Given the description of an element on the screen output the (x, y) to click on. 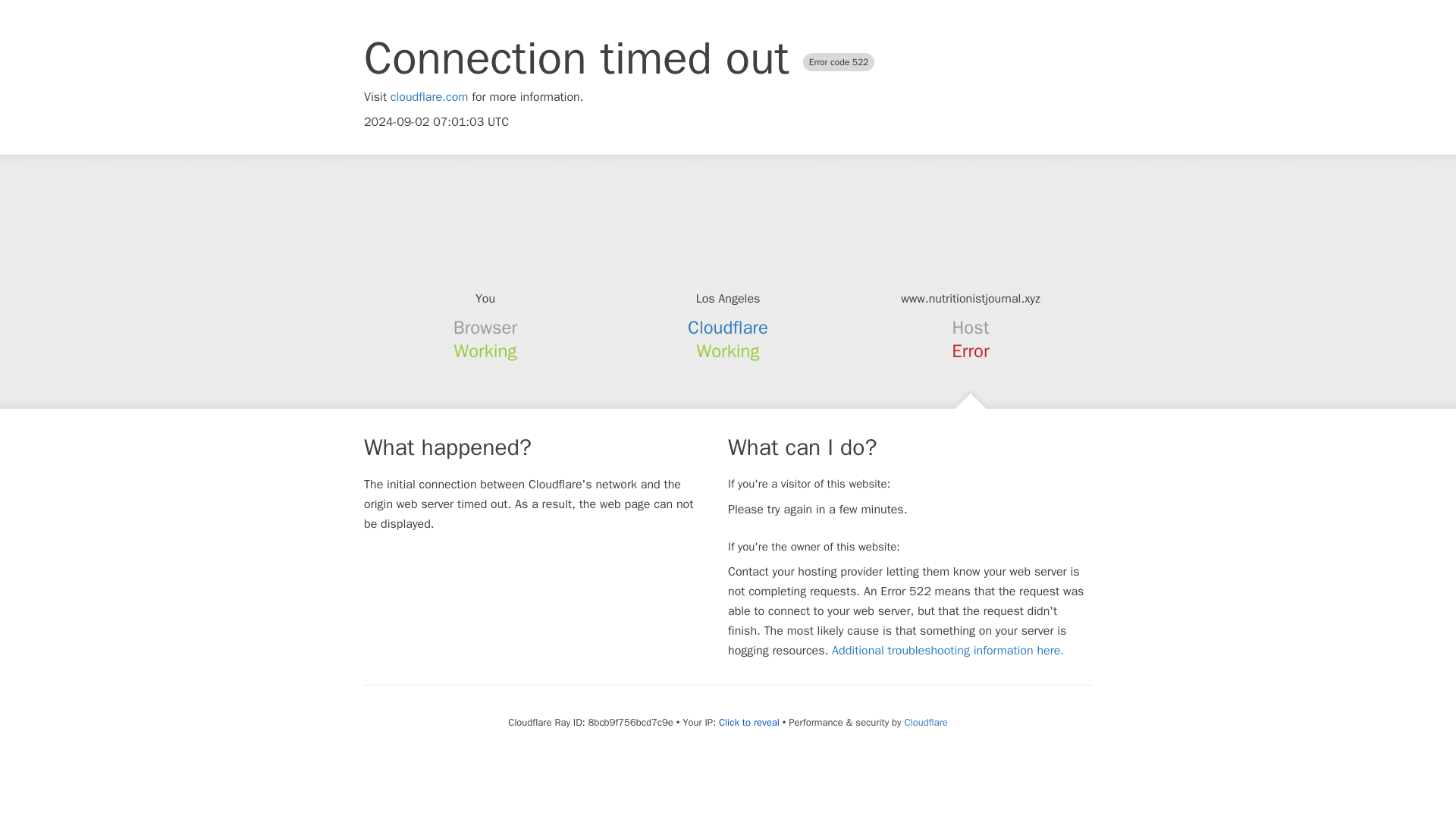
Cloudflare (925, 721)
cloudflare.com (429, 96)
Additional troubleshooting information here. (947, 650)
Click to reveal (748, 722)
Cloudflare (727, 327)
